Given the description of an element on the screen output the (x, y) to click on. 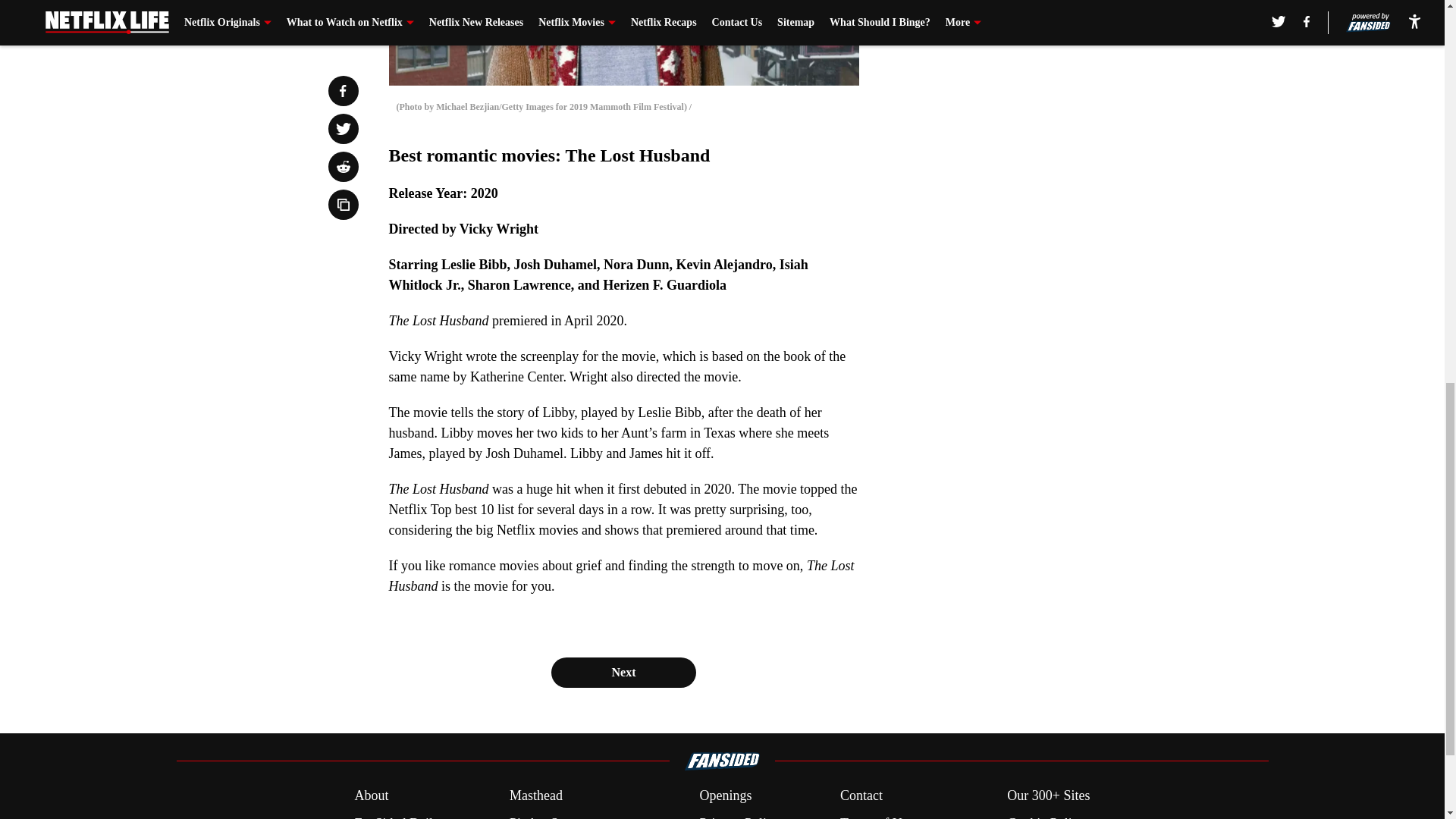
romantic movie - The Lost Husband Netflix (623, 42)
